Given the description of an element on the screen output the (x, y) to click on. 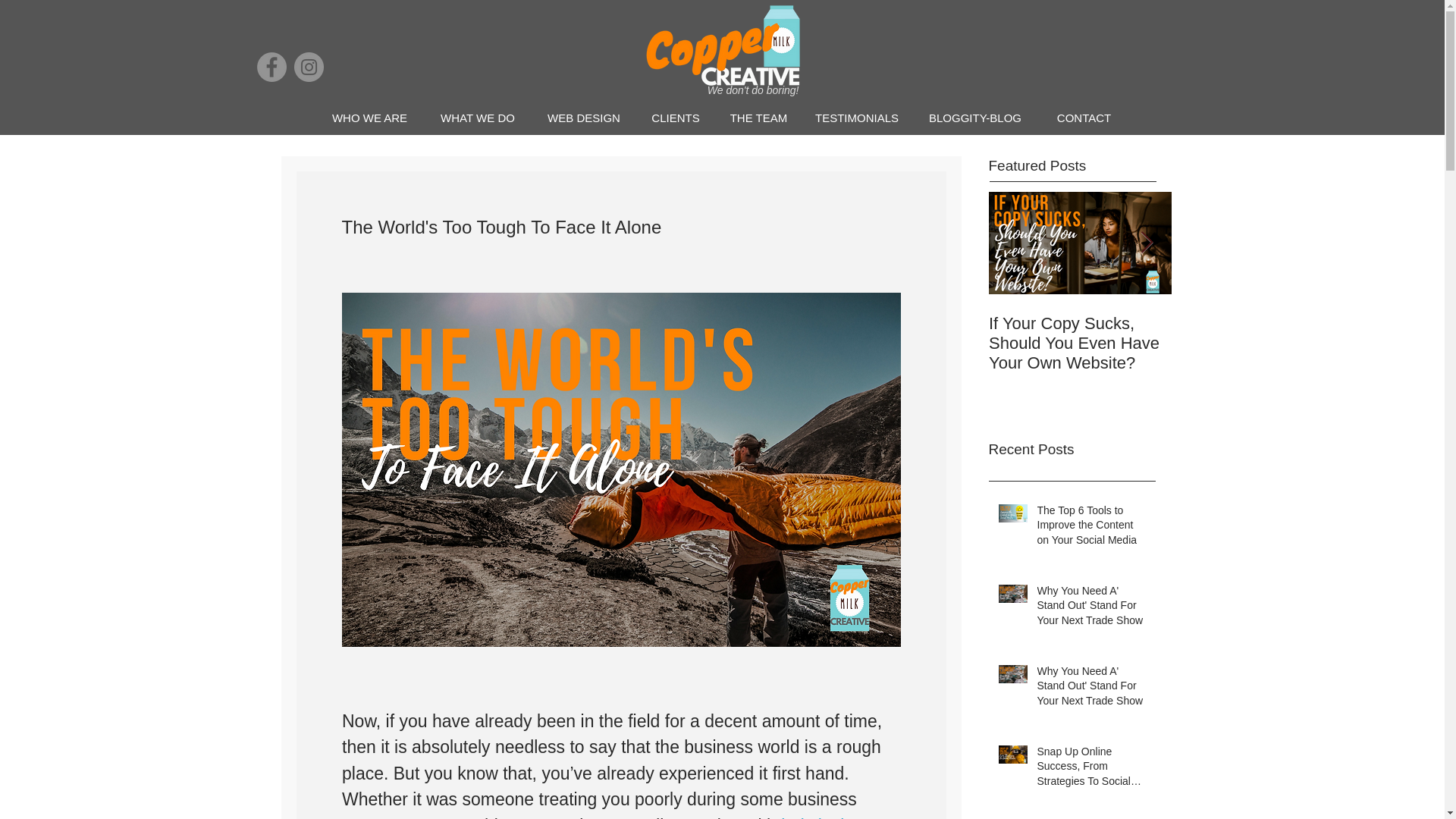
The Top 6 Tools to Improve the Content on Your Social Media (1091, 528)
If Your Copy Sucks, Should You Even Have Your Own Website? (1262, 343)
Why You Need A' Stand Out' Stand For Your Next Trade Show (1091, 689)
WHO WE ARE (369, 118)
Snap Up Online Success, From Strategies To Social Media (1091, 769)
WEB DESIGN (584, 118)
CONTACT (1084, 118)
CLIENTS (674, 118)
Why You Need A' Stand Out' Stand For Your Next Trade Show (1091, 608)
BLOGGITY-BLOG (974, 118)
